Given the description of an element on the screen output the (x, y) to click on. 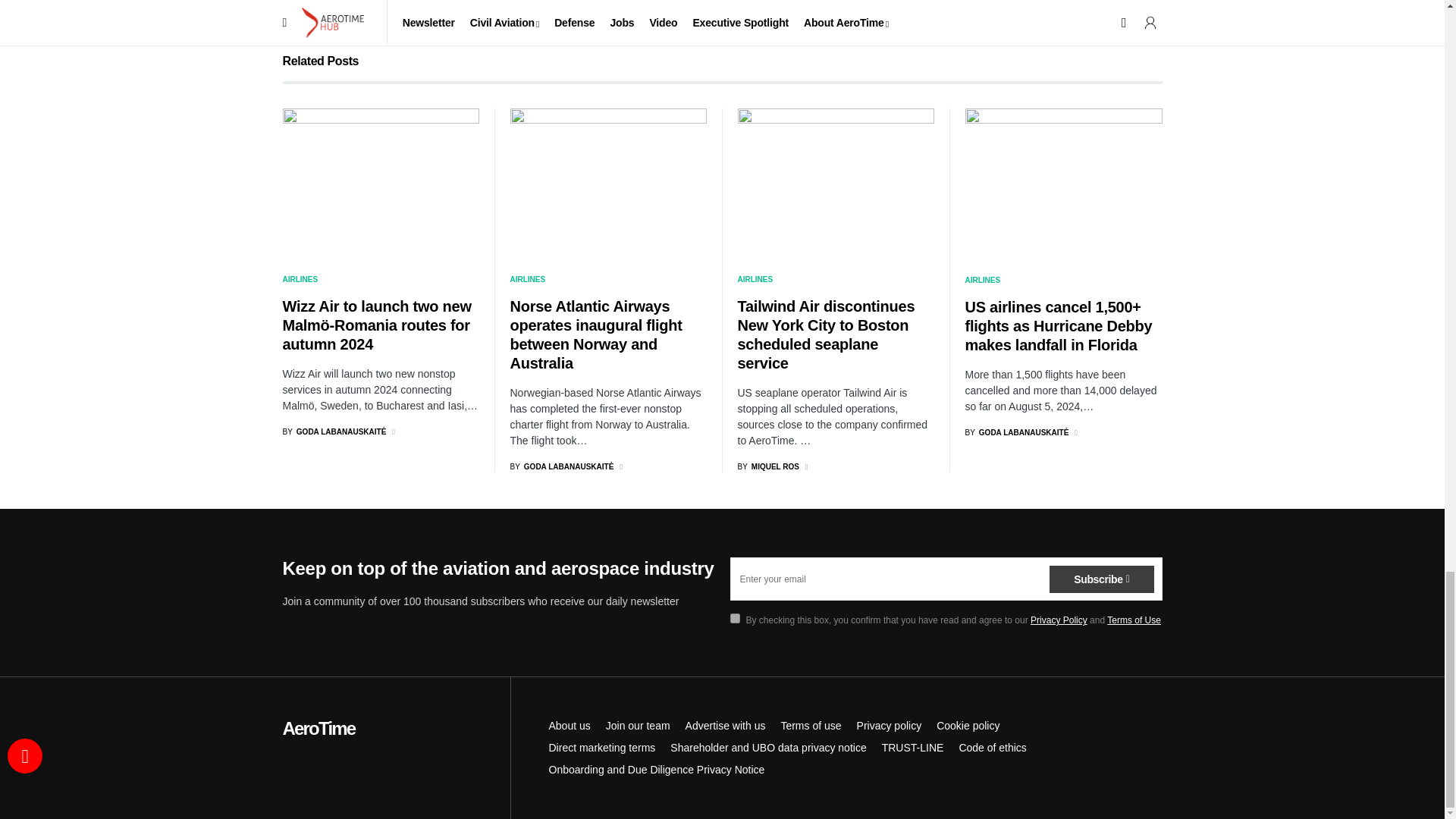
View all posts by Miquel Ros (767, 466)
on (734, 618)
